Given the description of an element on the screen output the (x, y) to click on. 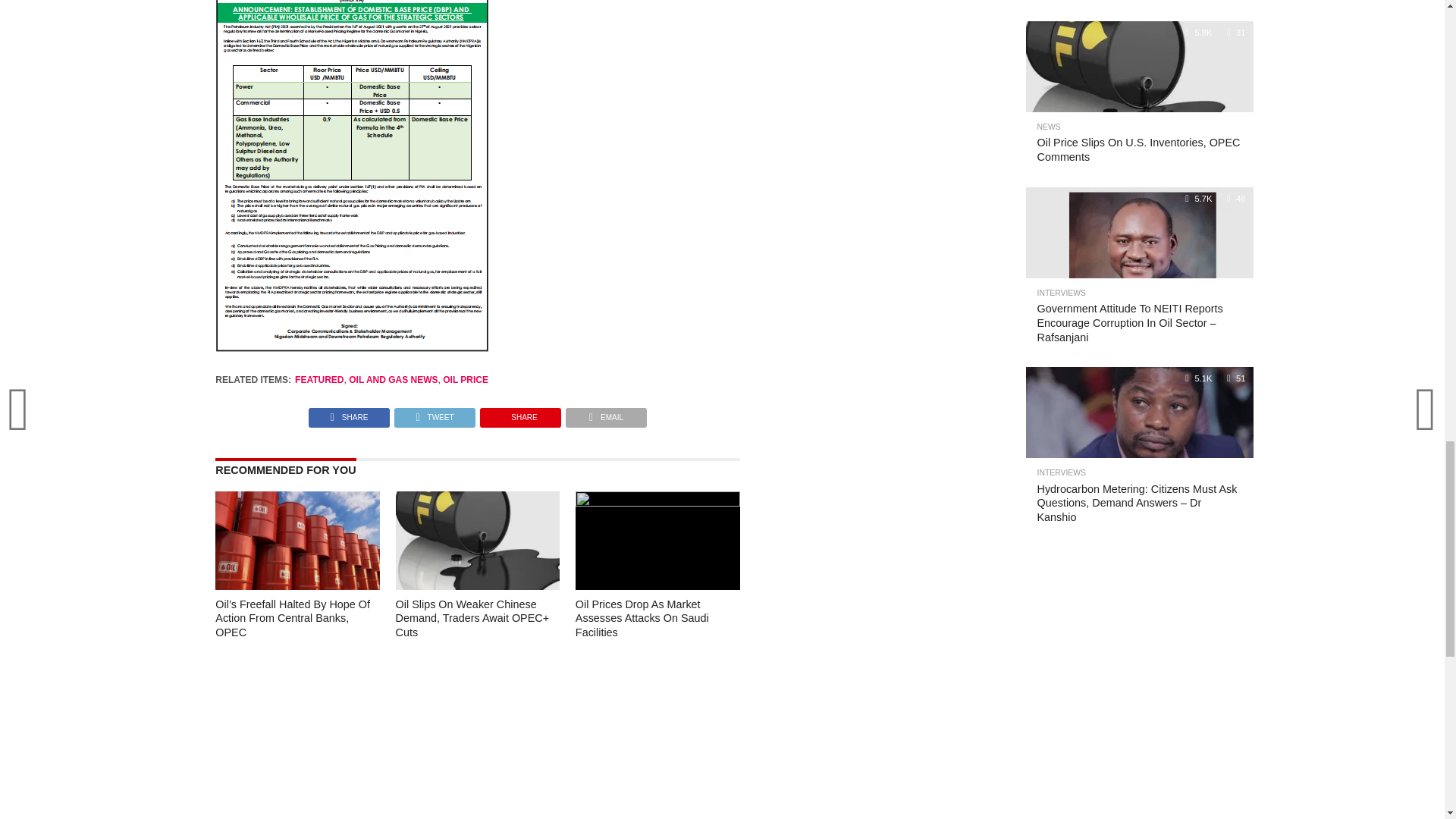
Pin This Post (520, 413)
Advertisement (602, 740)
Share on Facebook (349, 413)
Tweet This Post (434, 413)
